Given the description of an element on the screen output the (x, y) to click on. 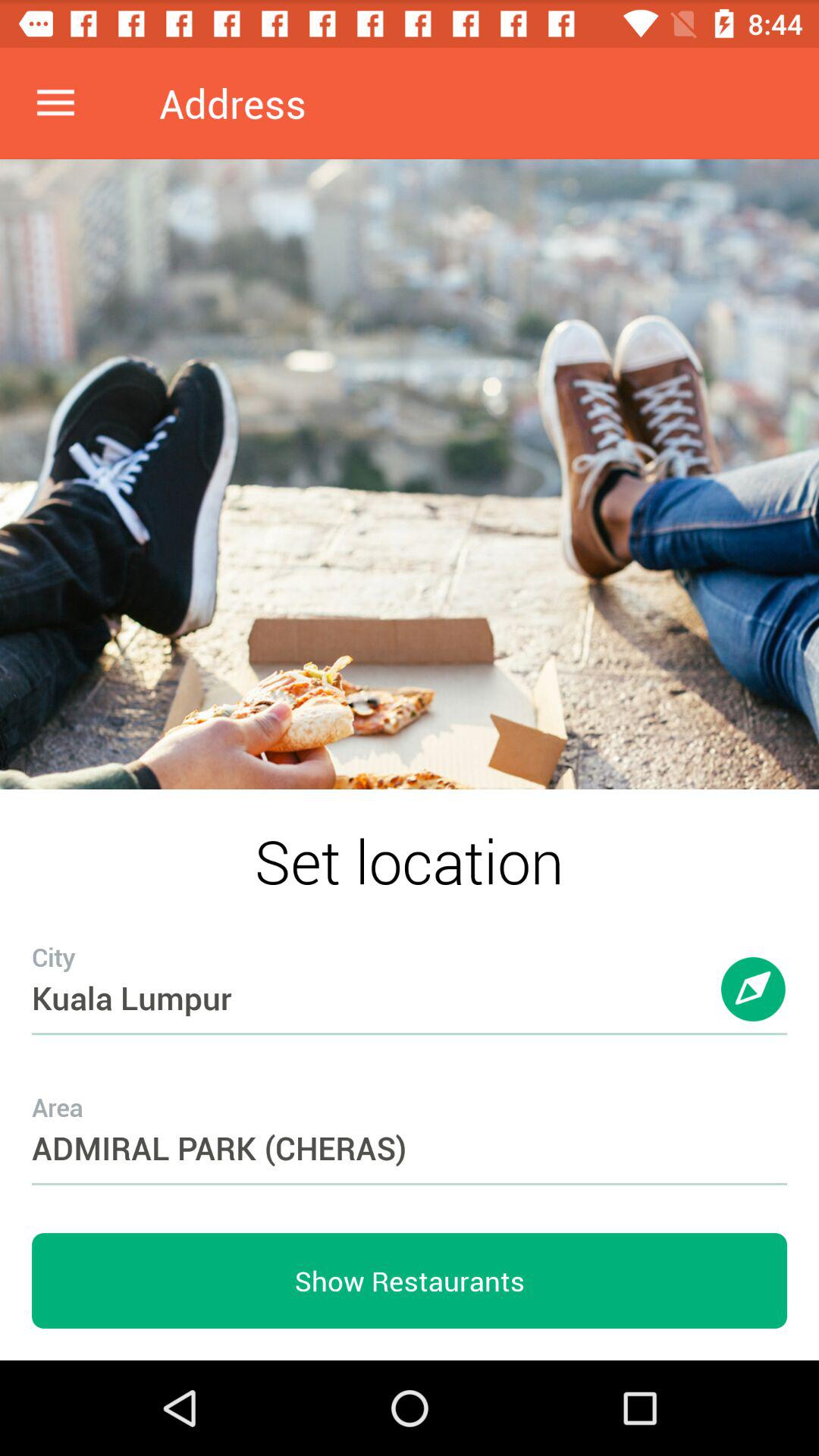
tap admiral park (cheras) (409, 1118)
